Given the description of an element on the screen output the (x, y) to click on. 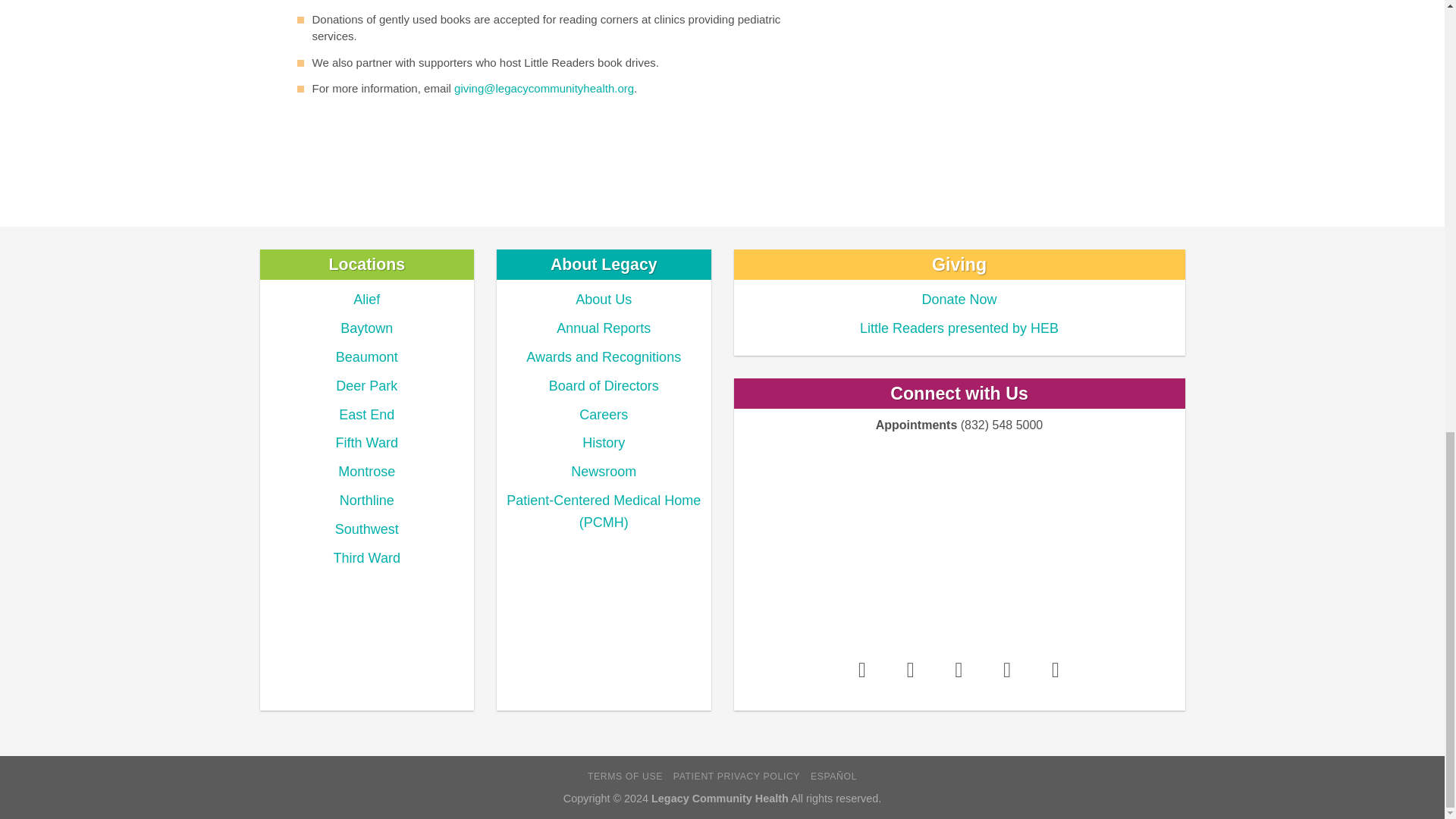
Follow on LinkedIn (1007, 670)
Follow on Instagram (910, 670)
Follow on Facebook (861, 670)
Follow on Twitter (959, 670)
